Given the description of an element on the screen output the (x, y) to click on. 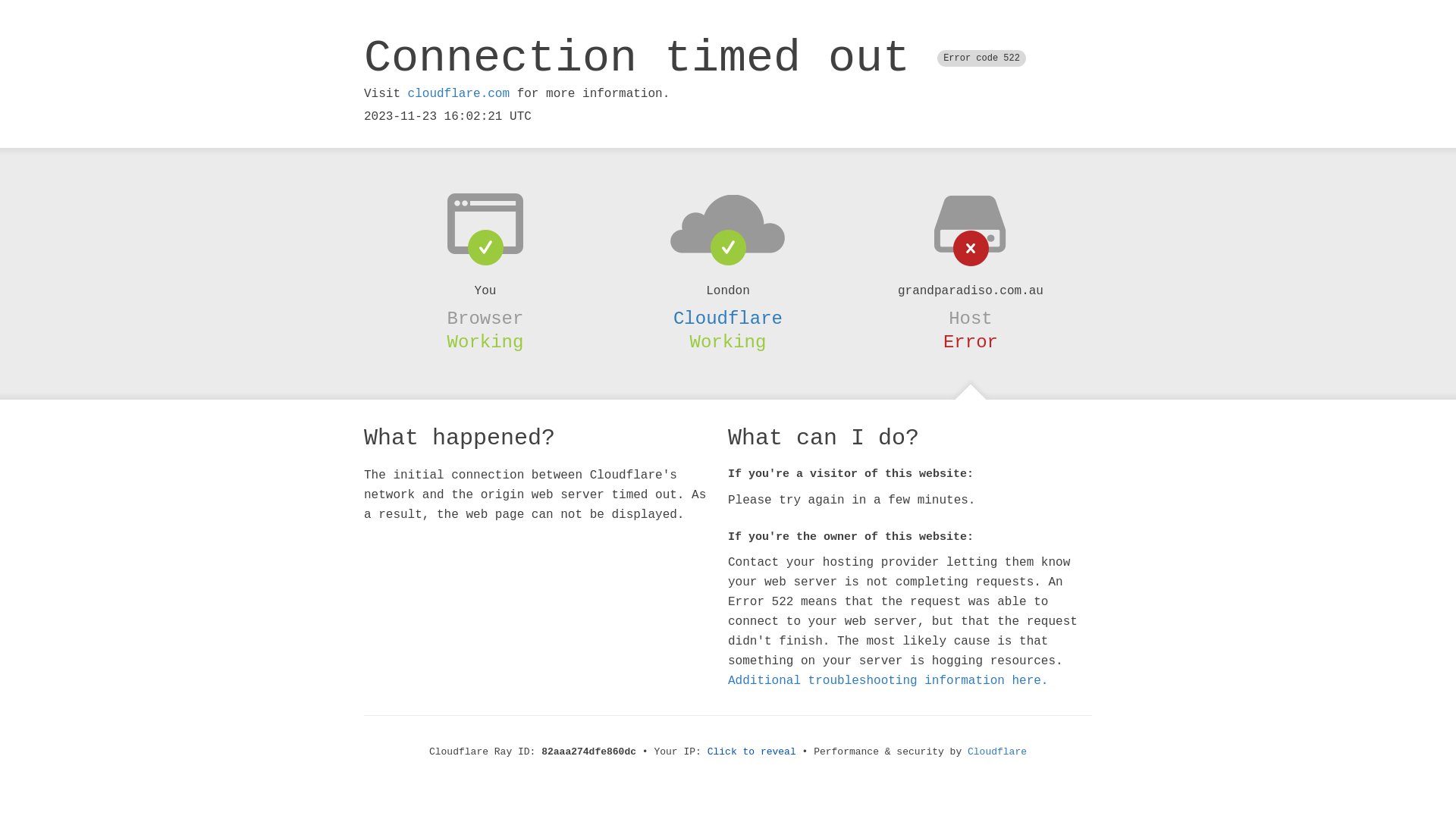
Click to reveal Element type: text (751, 751)
Cloudflare Element type: text (727, 318)
Additional troubleshooting information here. Element type: text (888, 680)
cloudflare.com Element type: text (458, 93)
Cloudflare Element type: text (996, 751)
